Given the description of an element on the screen output the (x, y) to click on. 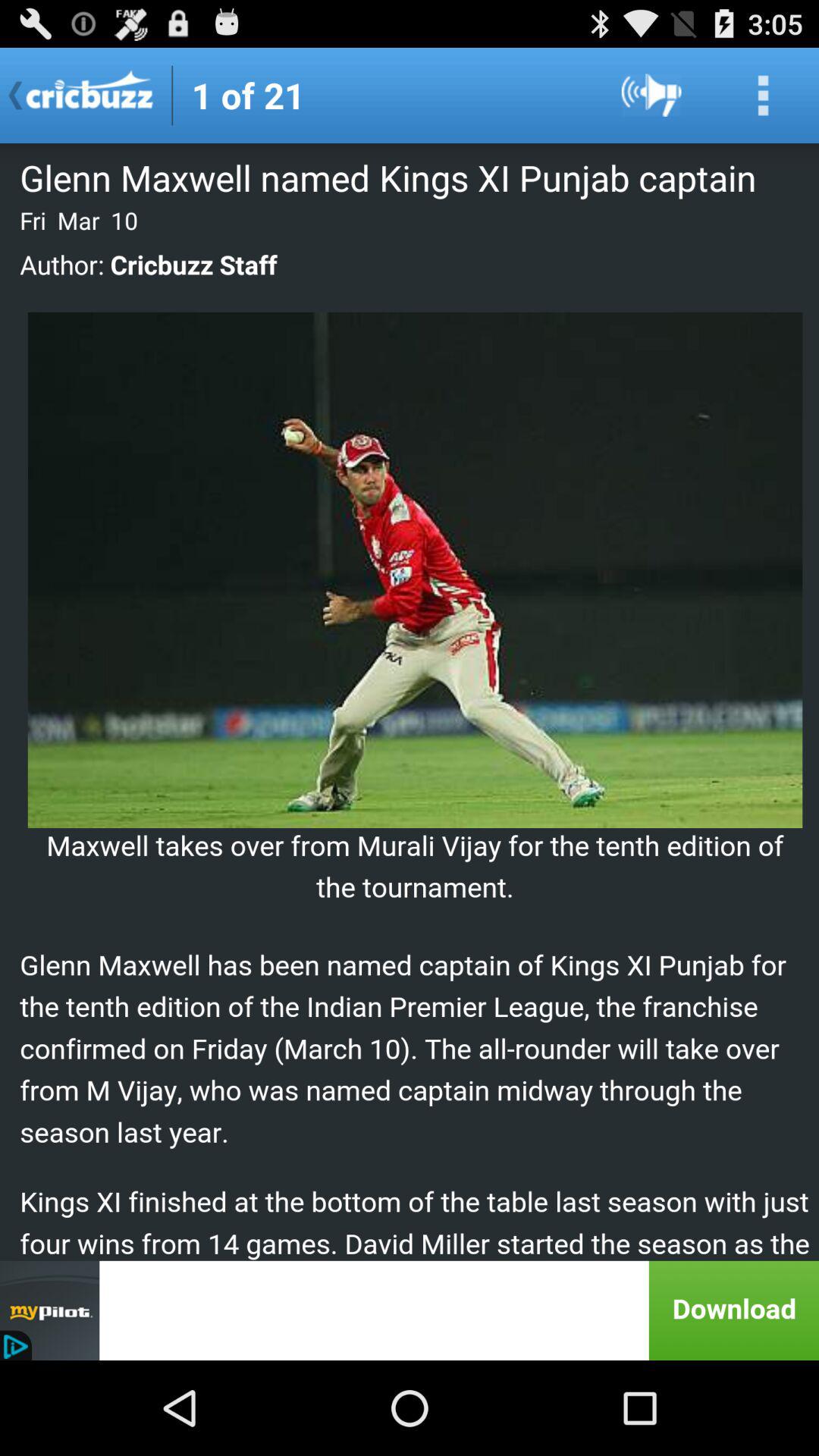
setting option (763, 95)
